Given the description of an element on the screen output the (x, y) to click on. 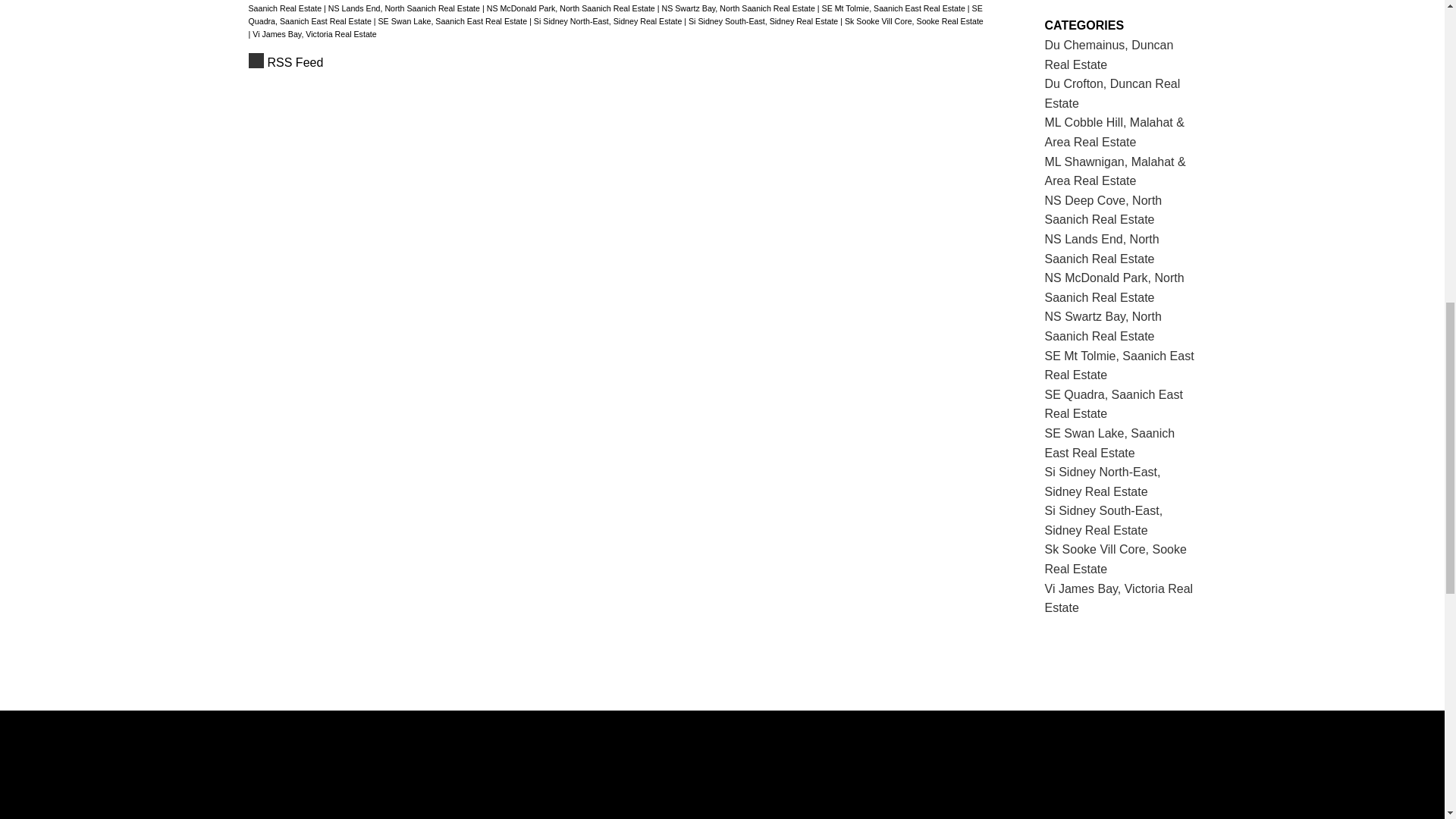
Vi James Bay, Victoria Real Estate (313, 33)
NS McDonald Park, North Saanich Real Estate (572, 8)
Sk Sooke Vill Core, Sooke Real Estate (914, 20)
SE Quadra, Saanich East Real Estate (615, 14)
Si Sidney South-East, Sidney Real Estate (764, 20)
RSS (616, 62)
NS Deep Cove, North Saanich Real Estate (605, 6)
SE Swan Lake, Saanich East Real Estate (453, 20)
NS Swartz Bay, North Saanich Real Estate (738, 8)
NS Lands End, North Saanich Real Estate (405, 8)
Si Sidney North-East, Sidney Real Estate (609, 20)
SE Mt Tolmie, Saanich East Real Estate (895, 8)
